Given the description of an element on the screen output the (x, y) to click on. 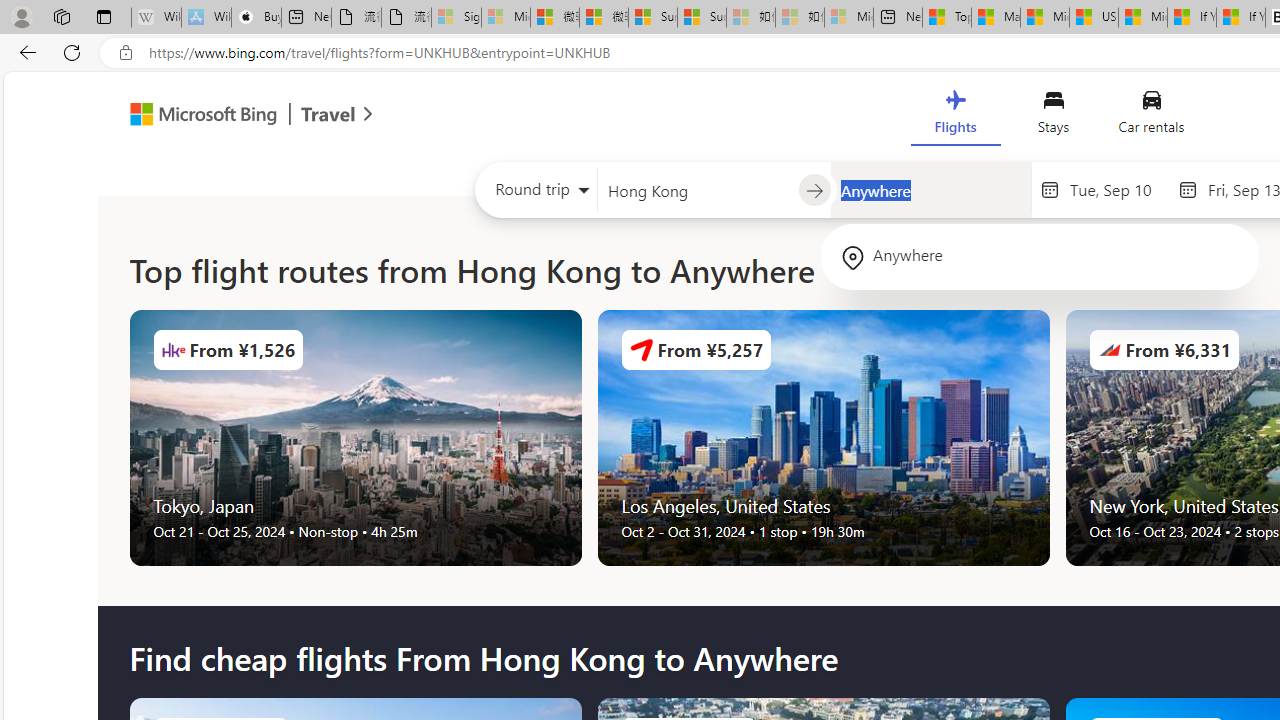
Car rentals (1150, 116)
Going to? (930, 190)
Select trip type (535, 193)
Microsoft Bing (194, 116)
